Given the description of an element on the screen output the (x, y) to click on. 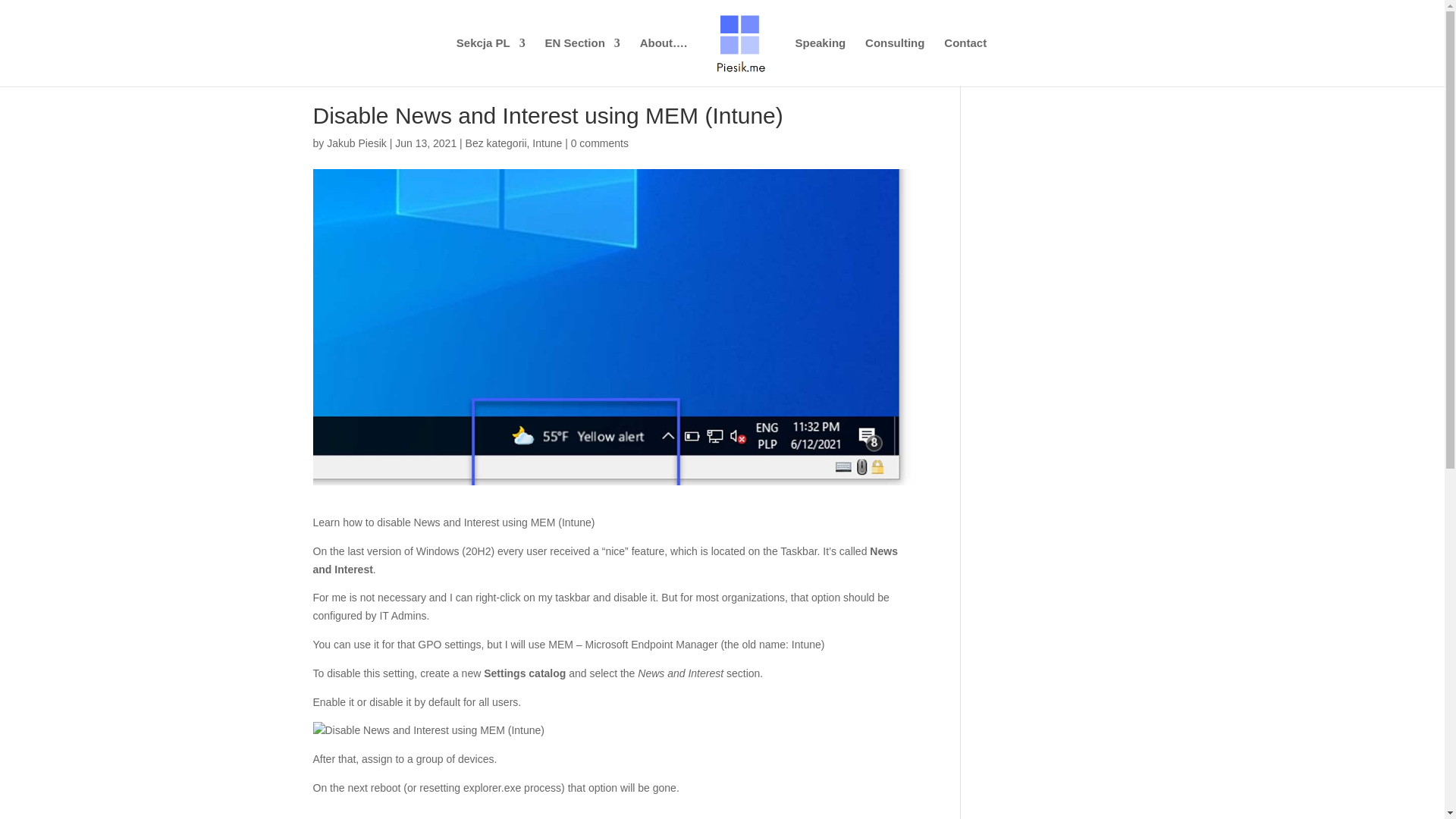
0 comments (599, 143)
Consulting (894, 61)
Posts by Jakub Piesik (356, 143)
Sekcja PL (491, 61)
Intune (547, 143)
EN Section (582, 61)
Bez kategorii (496, 143)
Jakub Piesik (356, 143)
Speaking (819, 61)
